Given the description of an element on the screen output the (x, y) to click on. 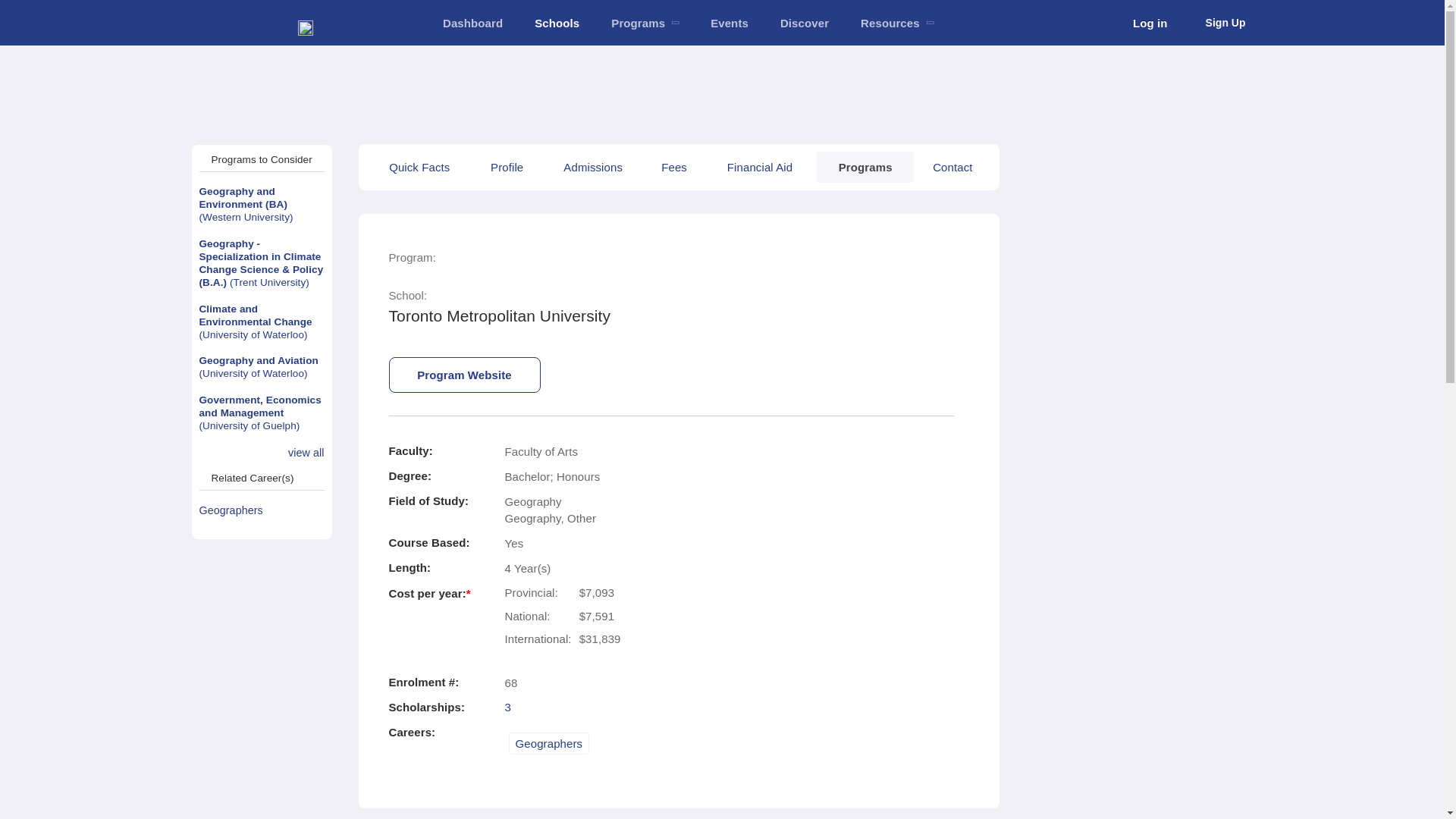
Events (729, 22)
Fees (674, 166)
Dashboard (472, 22)
Programs (865, 166)
Schools (556, 22)
view all (306, 453)
Geographers (260, 510)
Programs (644, 22)
Schools (556, 22)
mySTUFF (472, 22)
Resources (896, 22)
Events (729, 22)
Quick Facts (419, 166)
Admissions (592, 166)
Discover (804, 22)
